Given the description of an element on the screen output the (x, y) to click on. 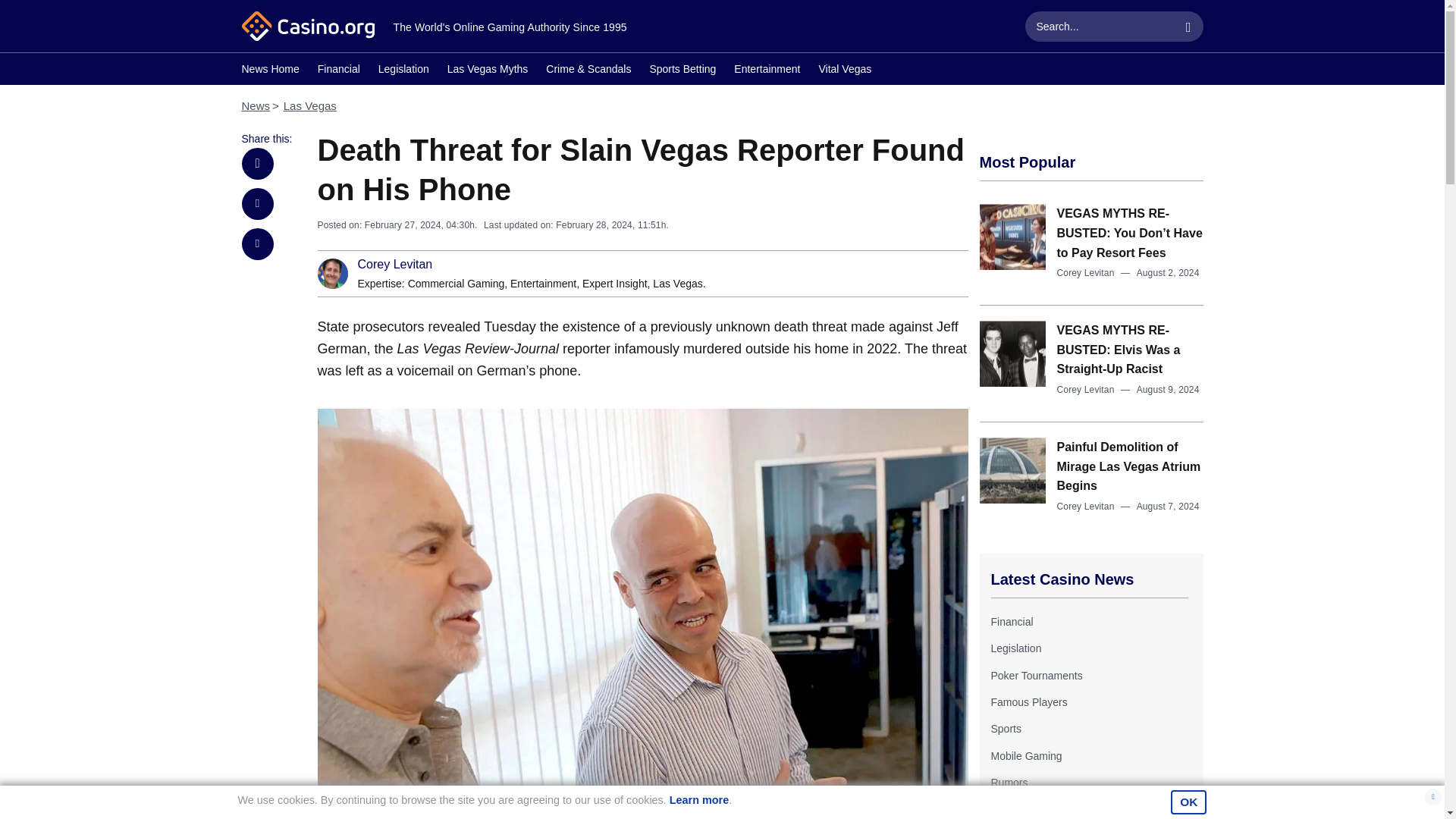
Las Vegas Myths (487, 70)
Las Vegas (676, 283)
Las Vegas (676, 283)
Entertainment (543, 283)
VEGAS MYTHS RE-BUSTED: Elvis Was a Straight-Up Racist (1118, 349)
Entertainment (766, 70)
Corey Levitan (1086, 506)
Corey Levitan (395, 264)
Expert Insight (614, 283)
iGaming (1009, 809)
